Given the description of an element on the screen output the (x, y) to click on. 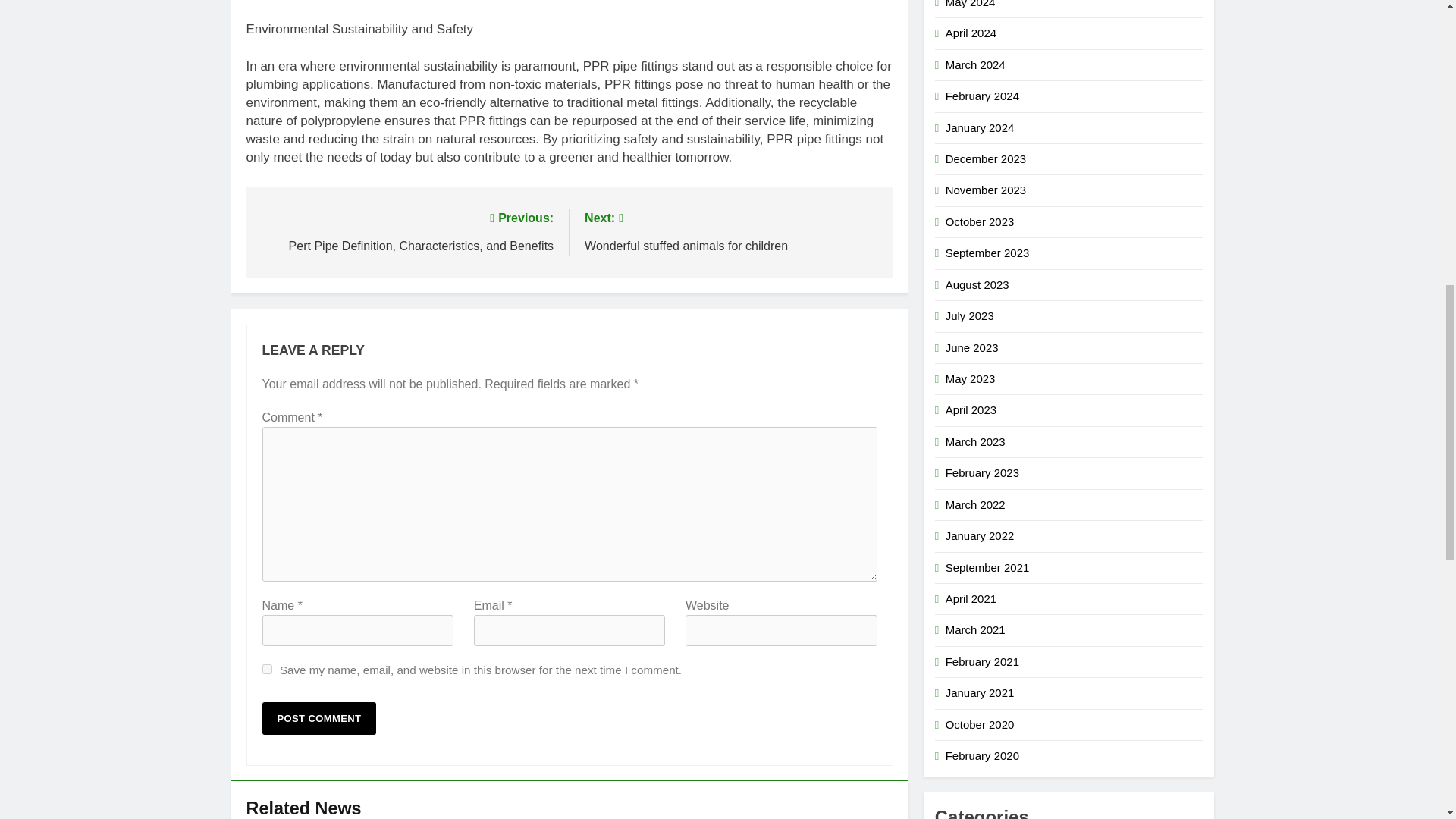
Post Comment (319, 717)
yes (267, 669)
